Given the description of an element on the screen output the (x, y) to click on. 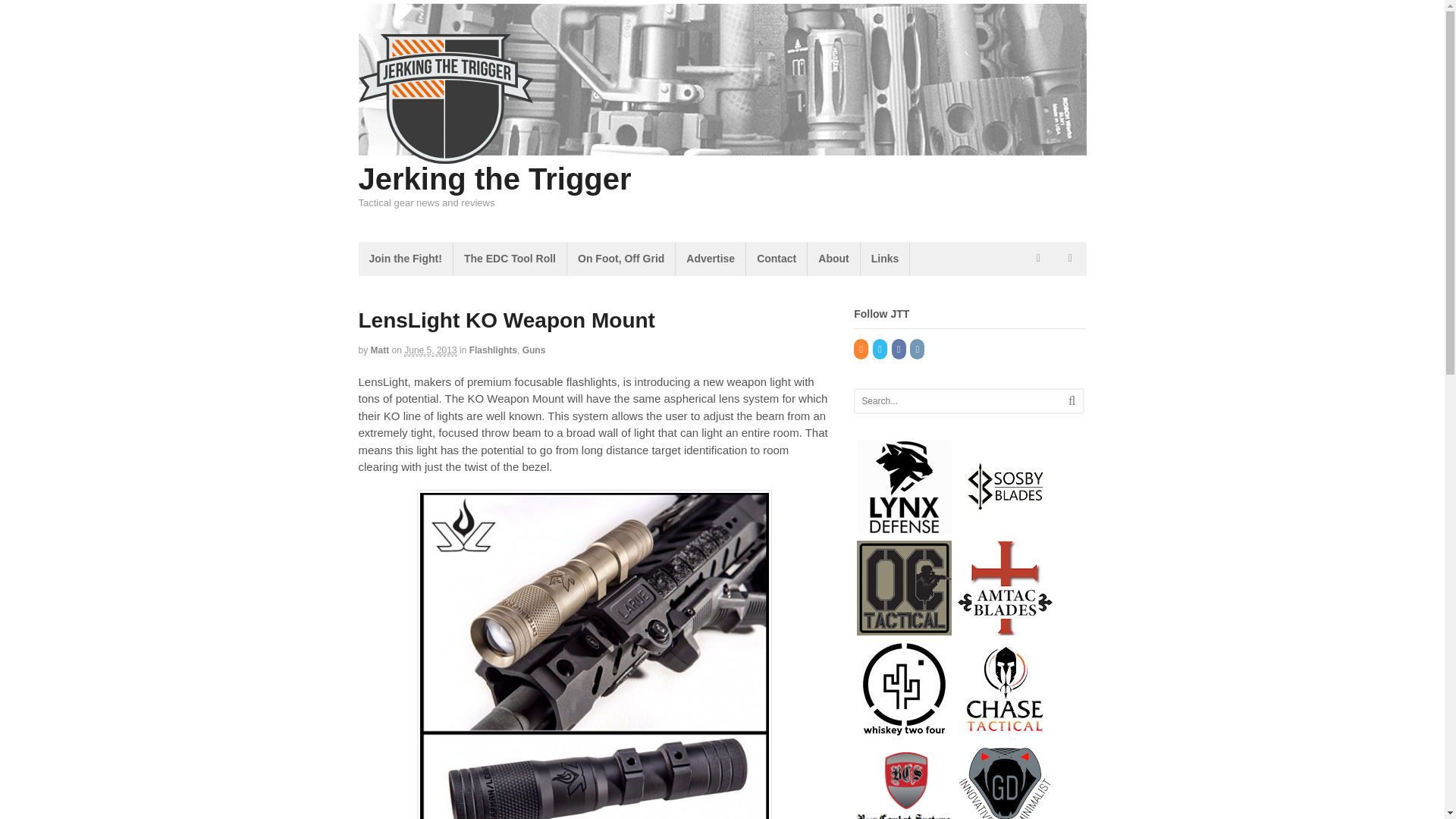
Jerking the Trigger (494, 178)
Tactical gear news and reviews (445, 155)
View all items in Guns (534, 349)
Guns (534, 349)
2013-06-05T16:45:44-0700 (430, 350)
Posts by Matt (380, 349)
Matt (380, 349)
The EDC Tool Roll (509, 258)
About (833, 258)
View all items in Flashlights (492, 349)
